Given the description of an element on the screen output the (x, y) to click on. 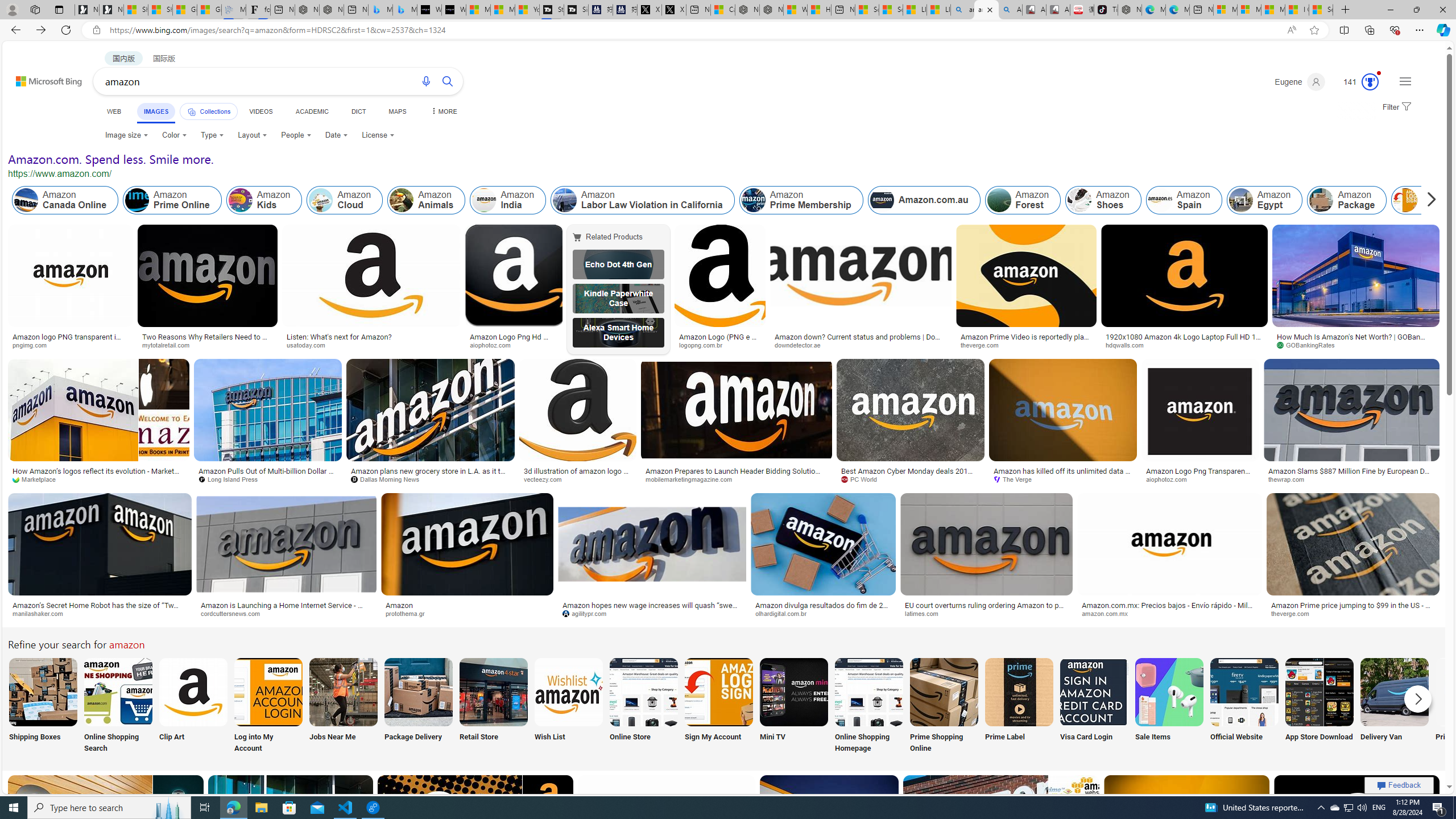
agilitypr.com (588, 612)
latimes.com (925, 612)
Amazon Sign in My Account (718, 691)
ACADEMIC (311, 111)
Microsoft account | Privacy (1248, 9)
Amazon App Store Download App Store Download (1319, 706)
DICT (357, 111)
